Given the description of an element on the screen output the (x, y) to click on. 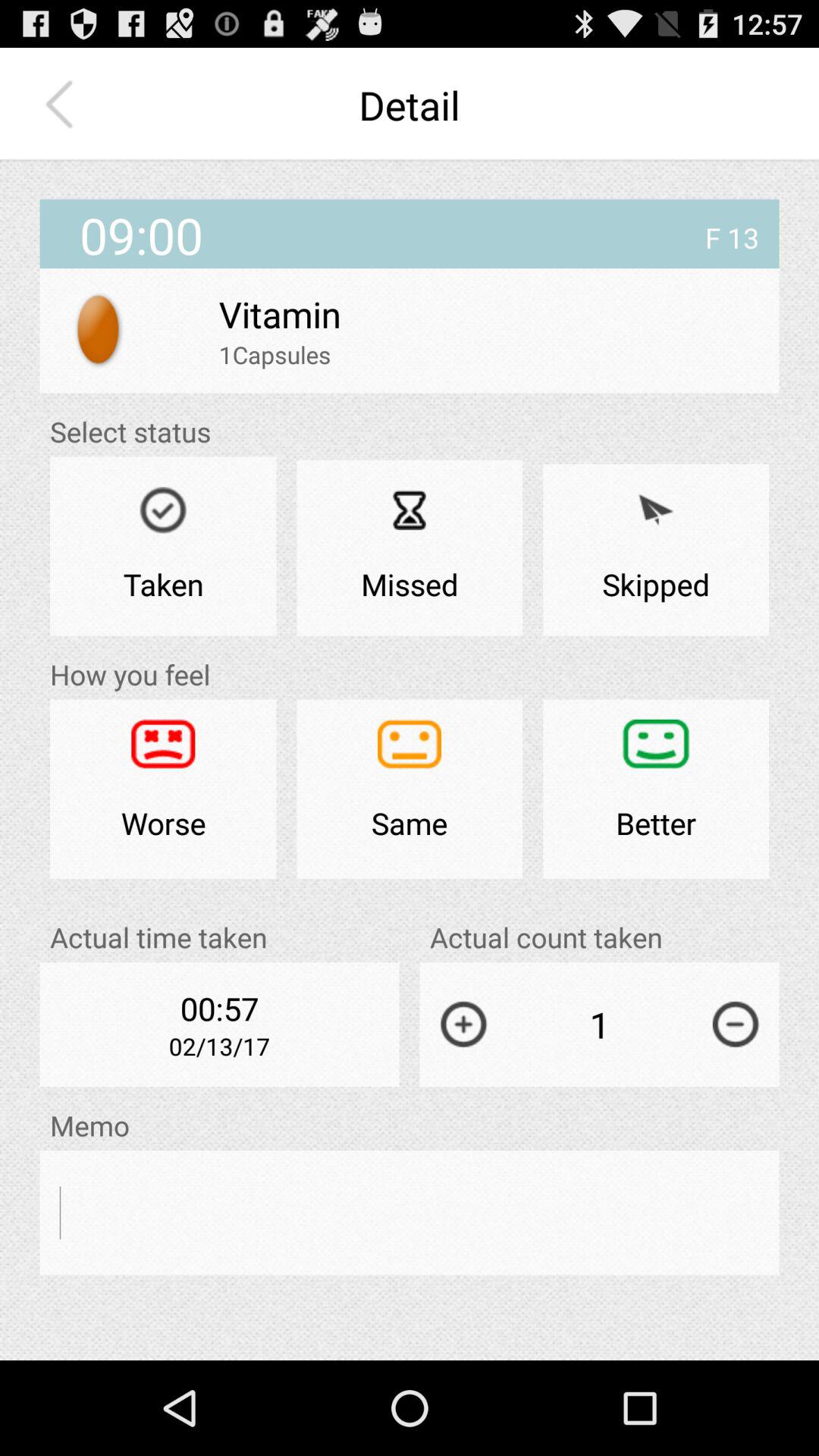
click the icon to the right of the same icon (655, 788)
